Given the description of an element on the screen output the (x, y) to click on. 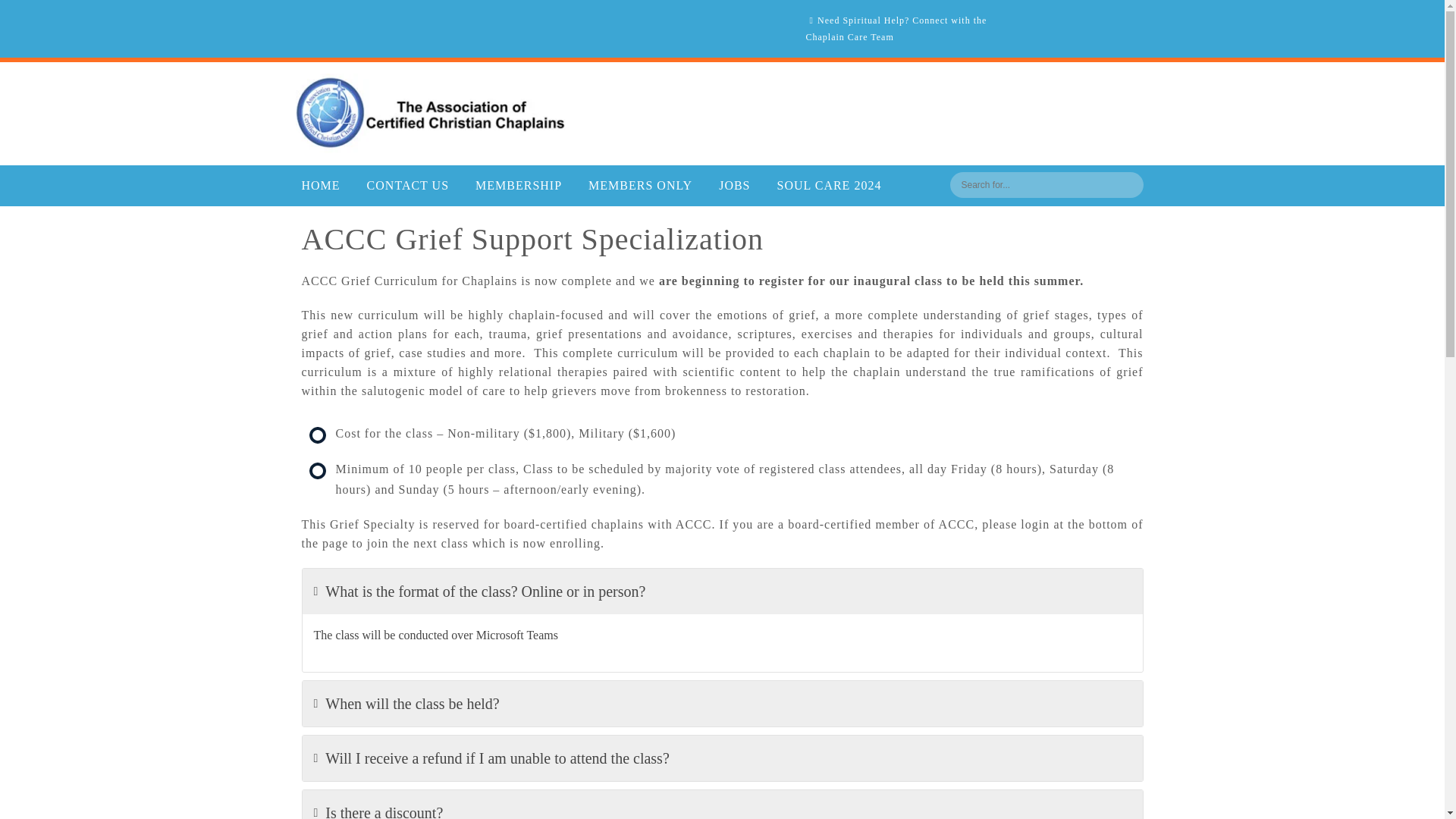
Is there a discount? (721, 804)
What is the format of the class? Online or in person? (721, 591)
HOME (319, 185)
MEMBERSHIP (518, 185)
CONTACT US (407, 185)
When will the class be held? (721, 703)
SOUL CARE 2024 (829, 185)
Will I receive a refund if I am unable to attend the class? (721, 758)
MEMBERS ONLY (639, 185)
JOBS (734, 185)
